Given the description of an element on the screen output the (x, y) to click on. 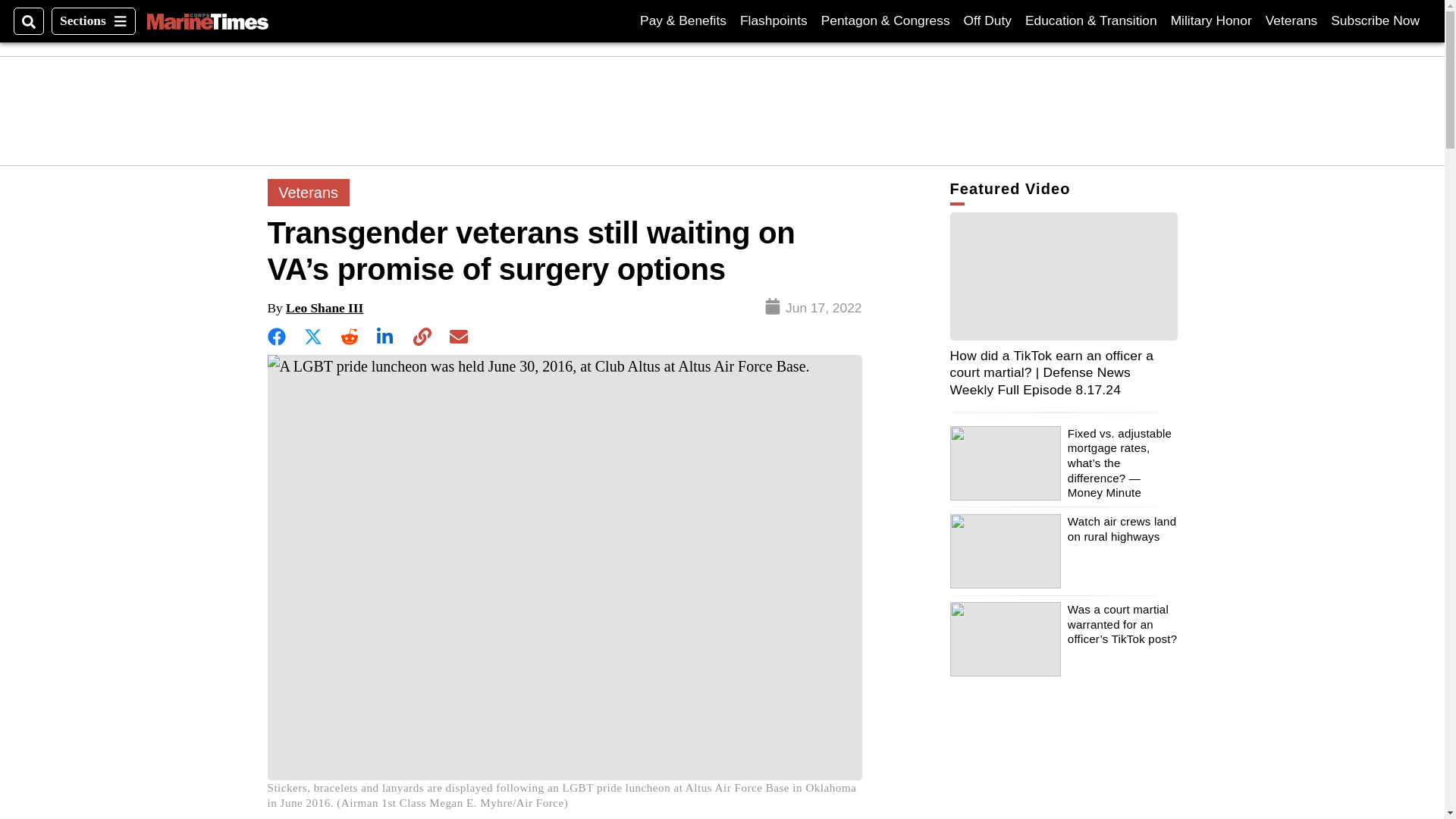
Veterans (1291, 20)
Marine Corps Times Logo (207, 21)
Sections (92, 21)
Flashpoints (773, 20)
Off Duty (987, 20)
Military Honor (1374, 20)
